Given the description of an element on the screen output the (x, y) to click on. 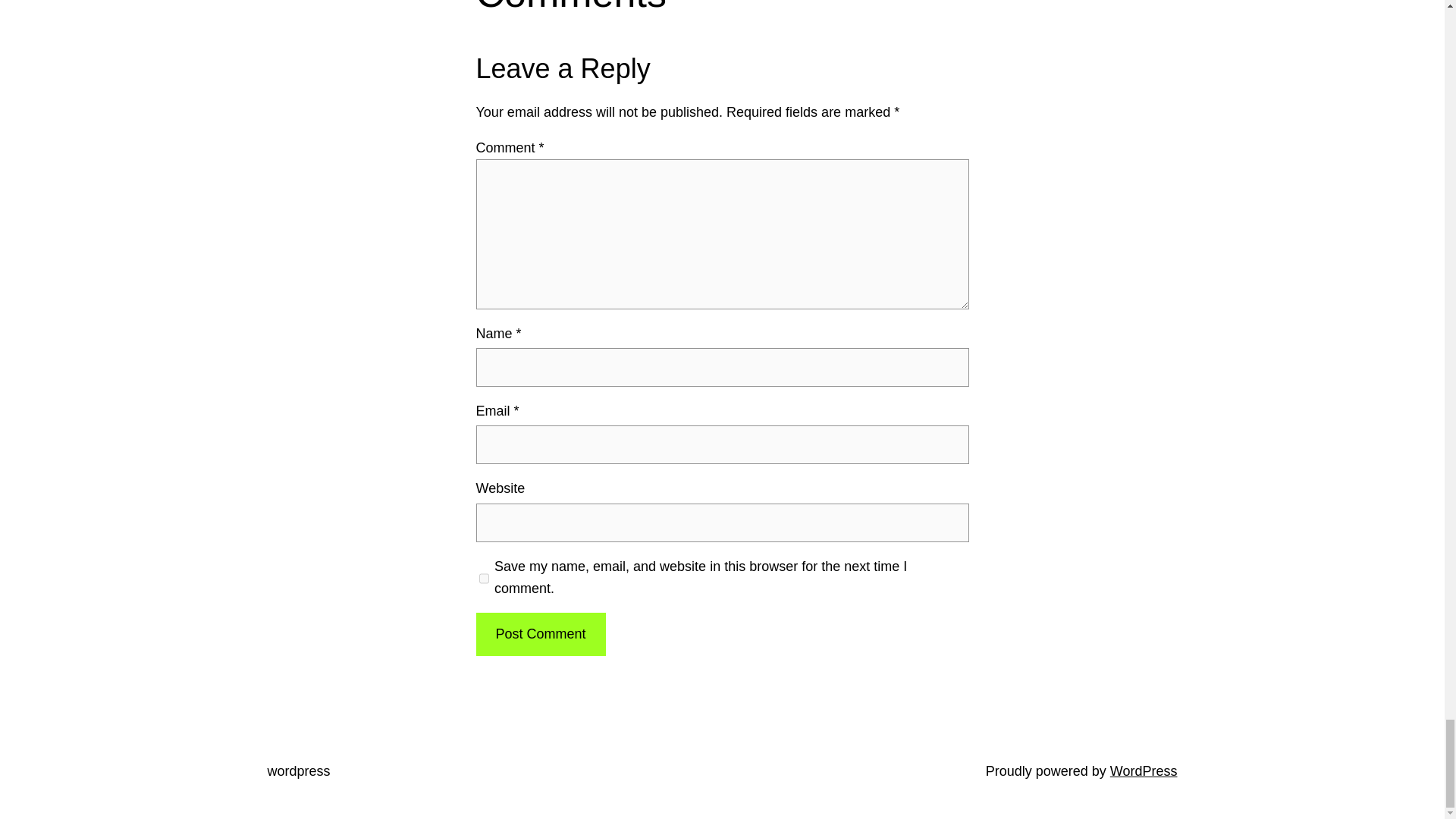
WordPress (1143, 770)
Post Comment (540, 634)
Post Comment (540, 634)
wordpress (298, 770)
